Given the description of an element on the screen output the (x, y) to click on. 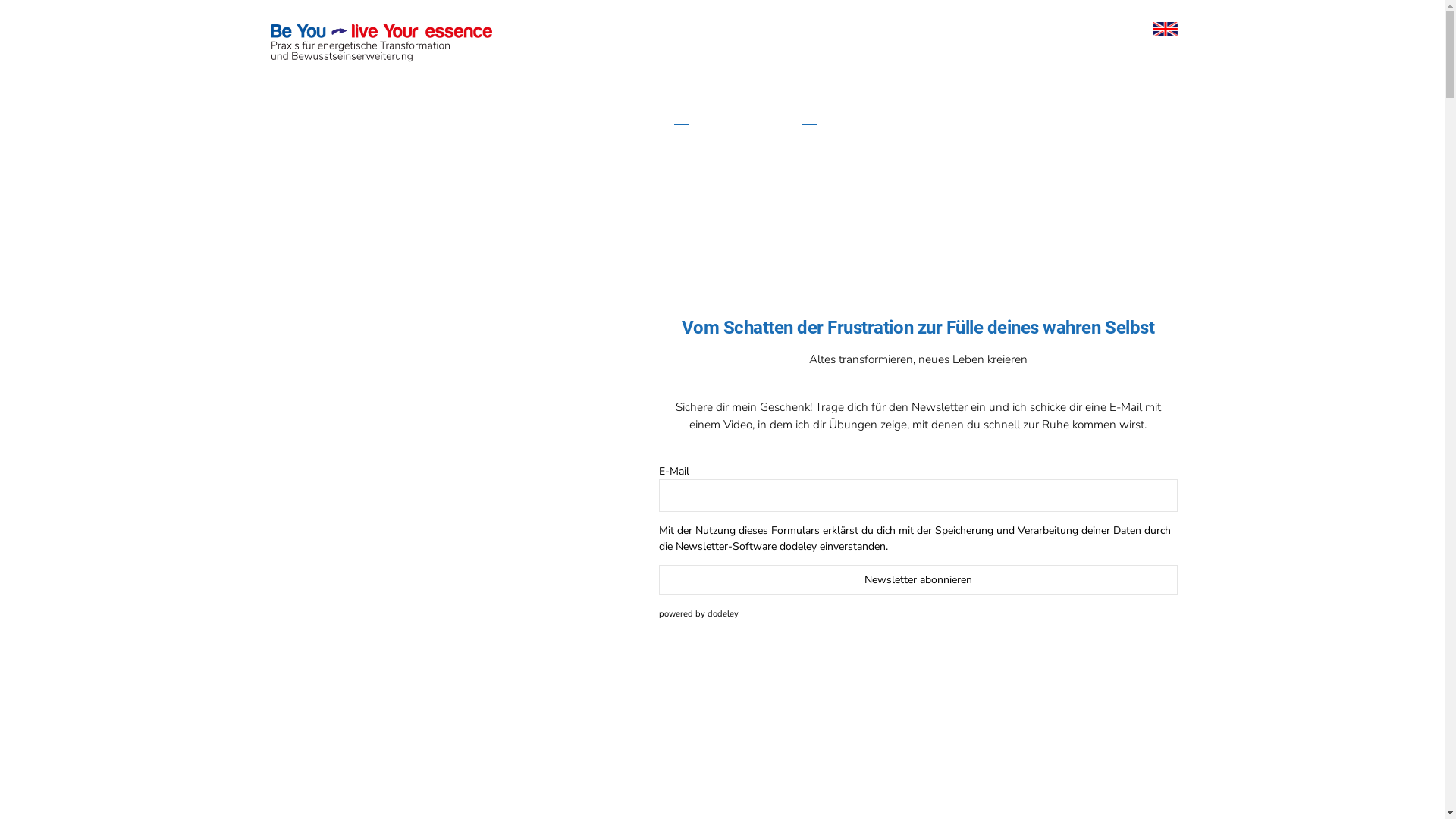
NEWSLETTER Element type: text (1144, 113)
Newsletter abonnieren Element type: text (917, 578)
START Element type: text (688, 113)
KONTAKT Element type: text (902, 113)
ANGEBOT Element type: text (824, 113)
powered by dodeley Element type: text (698, 613)
PROFIL Element type: text (752, 113)
FEEDBACK Element type: text (1054, 113)
dodeley Element type: text (797, 546)
